Given the description of an element on the screen output the (x, y) to click on. 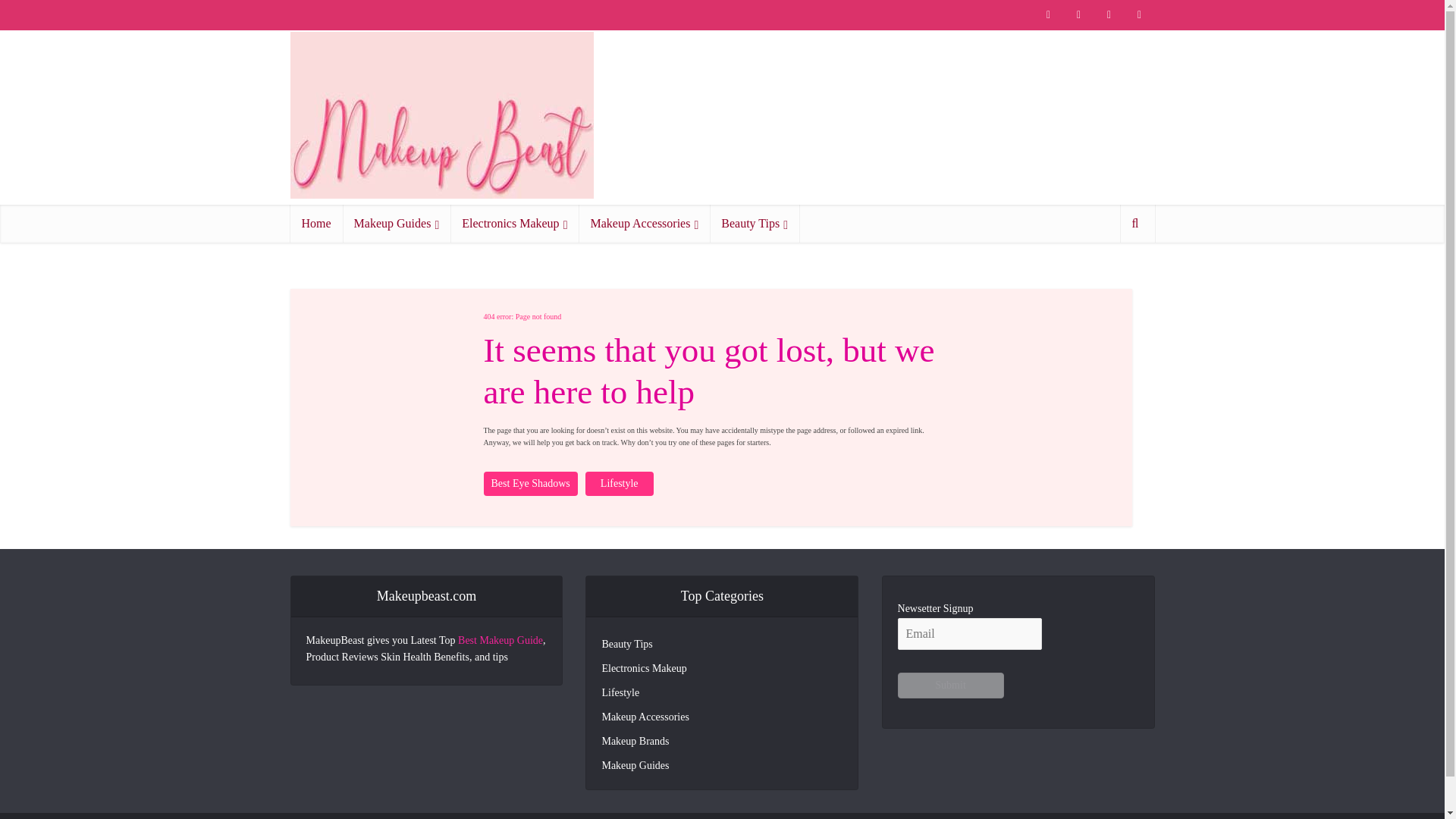
Electronics Makeup (513, 223)
Makeup Accessories (644, 223)
Makeup Guides (396, 223)
Home (315, 223)
Beauty Tips (754, 223)
